Given the description of an element on the screen output the (x, y) to click on. 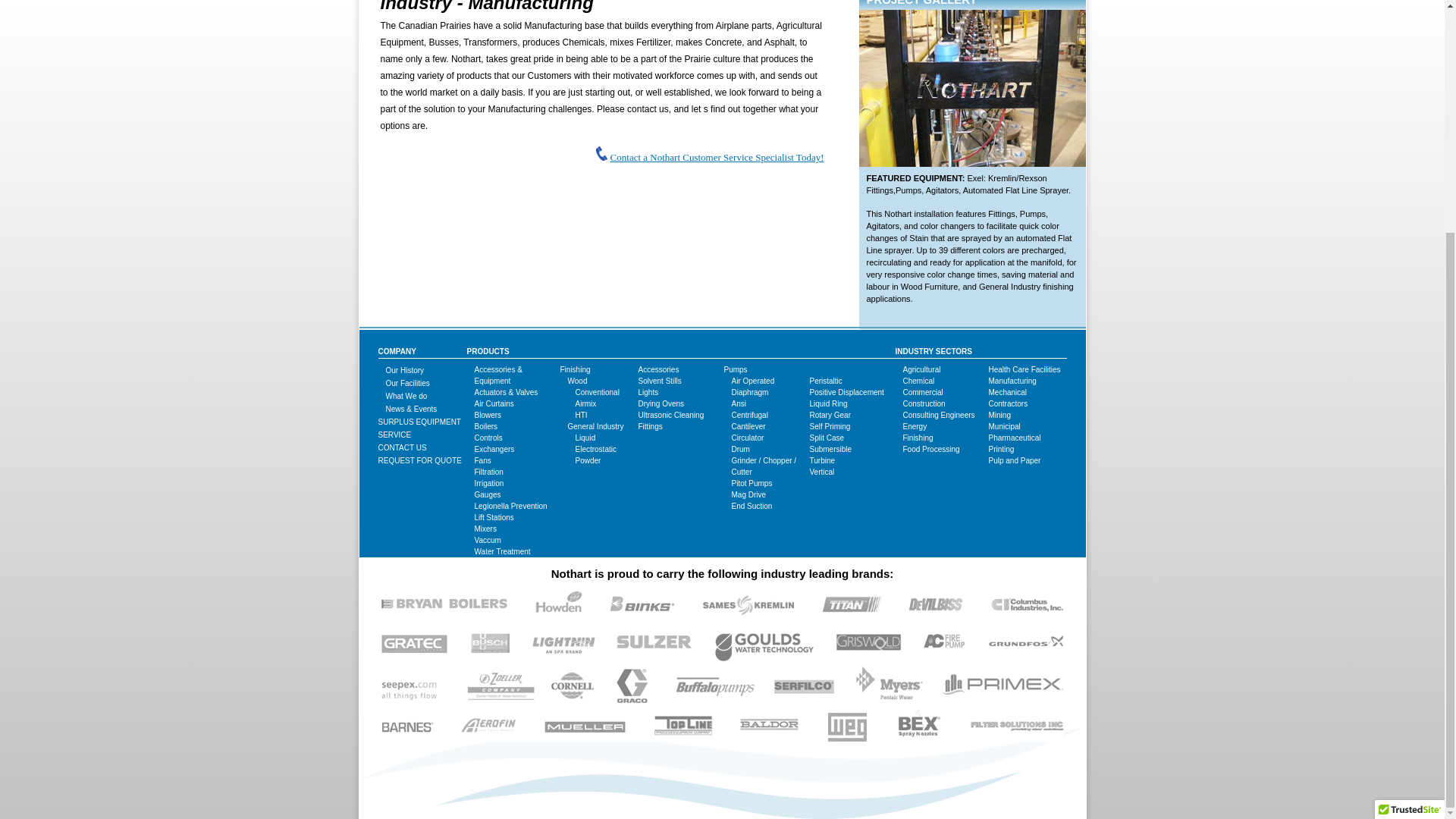
Used Equipment (418, 421)
Water Treatment (502, 551)
REQUEST FOR QUOTE (419, 460)
Fans (483, 460)
Blowers (488, 415)
Our History (404, 370)
What We do (405, 396)
Exchangers (494, 449)
Vaccum (487, 540)
Gauges (487, 494)
Irrigation (488, 483)
Contact a Nothart Customer Service Specialist Today! (717, 156)
Request For Quote (419, 460)
Service (393, 434)
CONTACT US (401, 447)
